Given the description of an element on the screen output the (x, y) to click on. 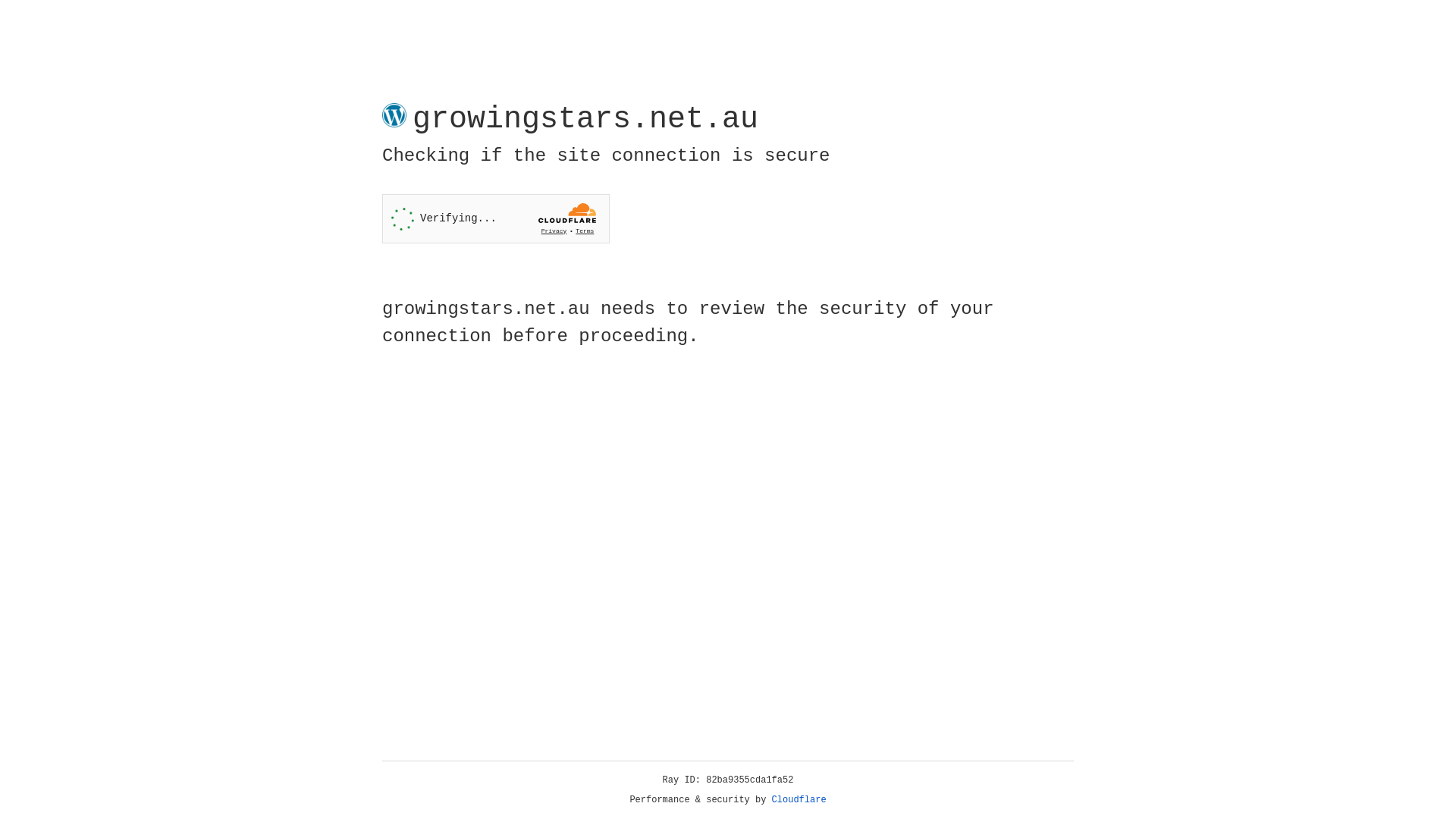
Cloudflare Element type: text (798, 799)
Widget containing a Cloudflare security challenge Element type: hover (495, 218)
